Given the description of an element on the screen output the (x, y) to click on. 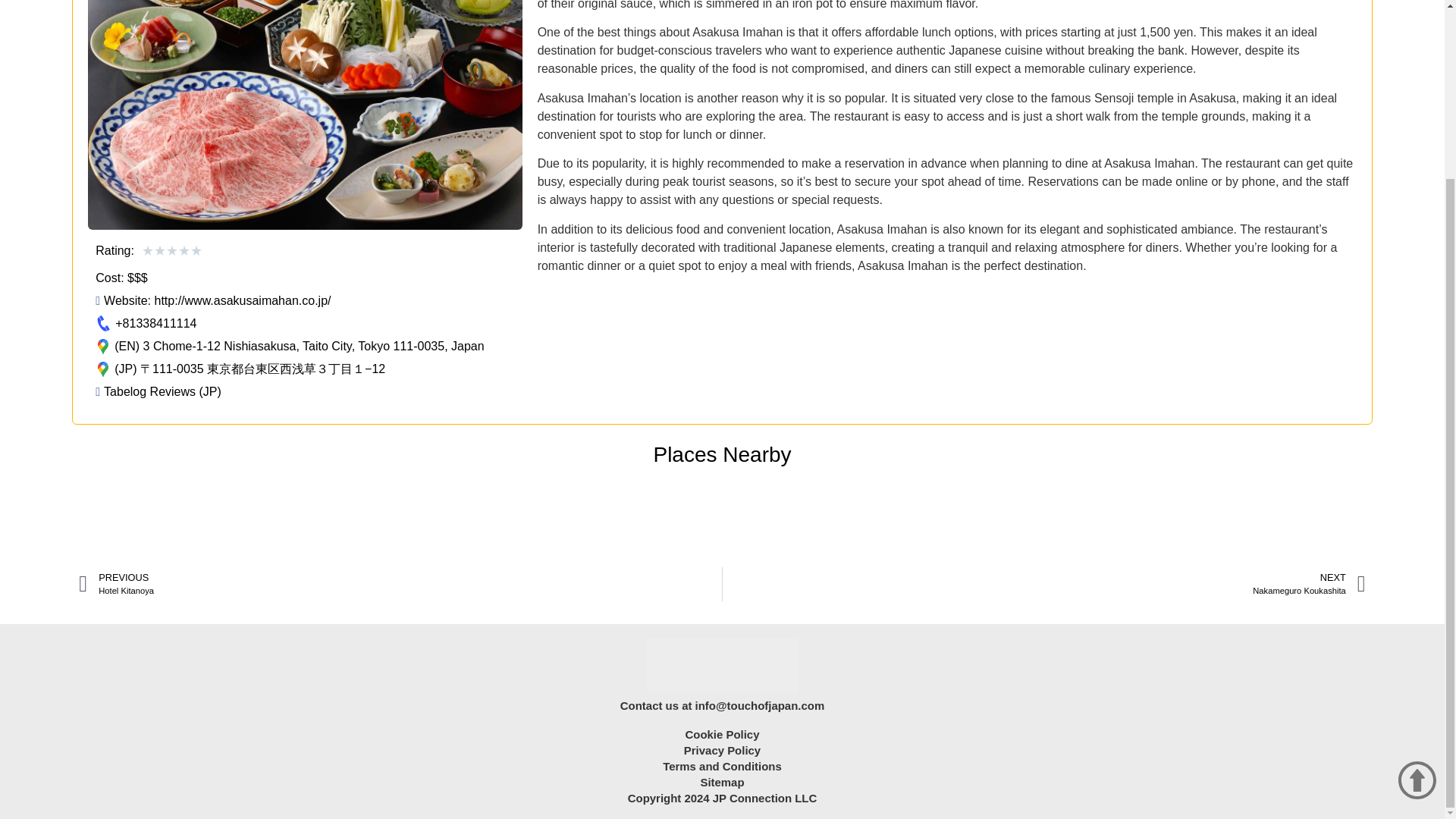
Terms and Conditions (721, 766)
Cookie Policy (1043, 584)
Privacy Policy (722, 734)
Asakusa Imahan 1 (722, 749)
